Given the description of an element on the screen output the (x, y) to click on. 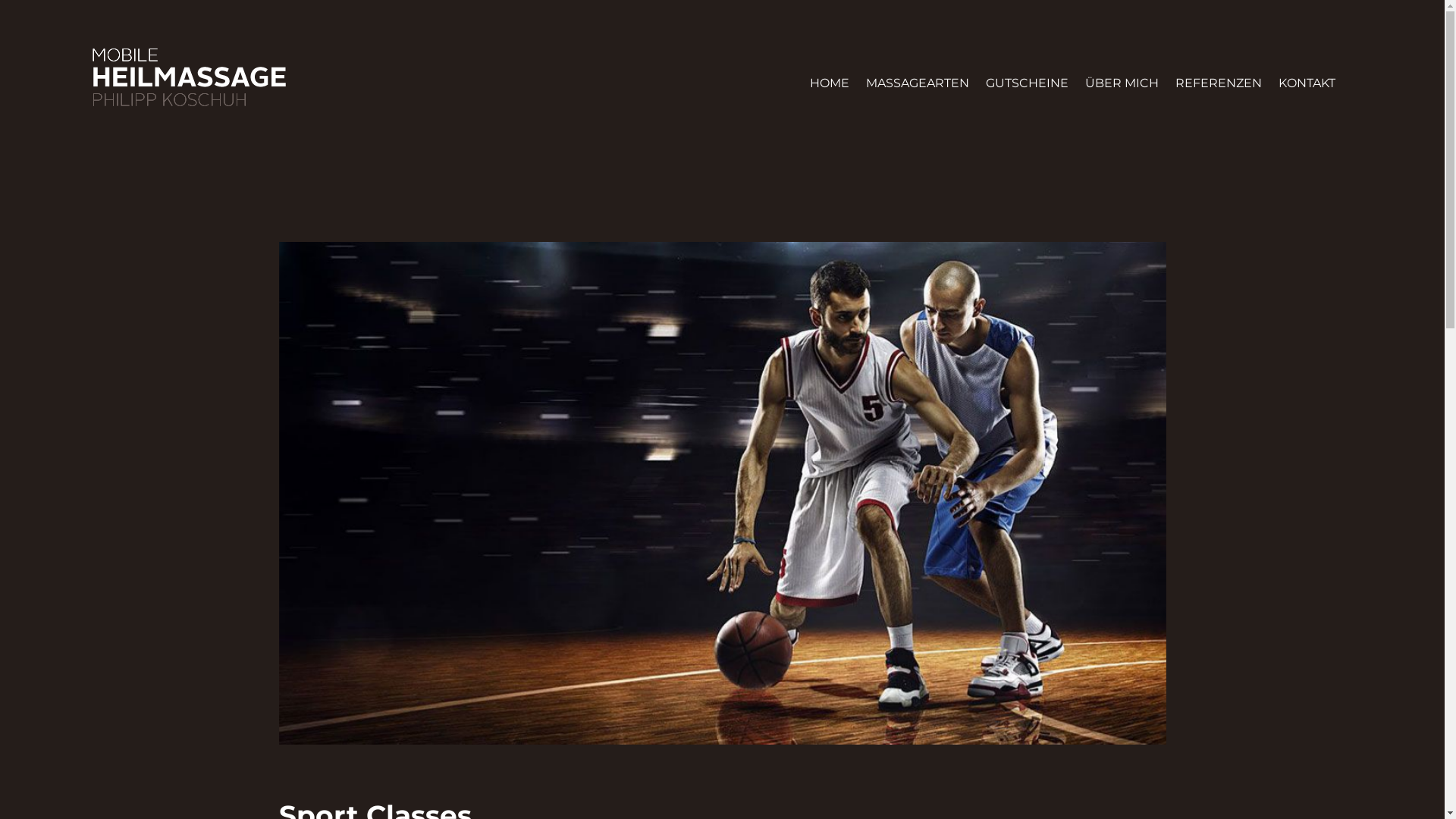
KONTAKT Element type: text (1306, 82)
View Larger Image Element type: text (722, 492)
GUTSCHEINE Element type: text (1026, 82)
HOME Element type: text (829, 82)
REFERENZEN Element type: text (1218, 82)
MASSAGEARTEN Element type: text (917, 82)
